Given the description of an element on the screen output the (x, y) to click on. 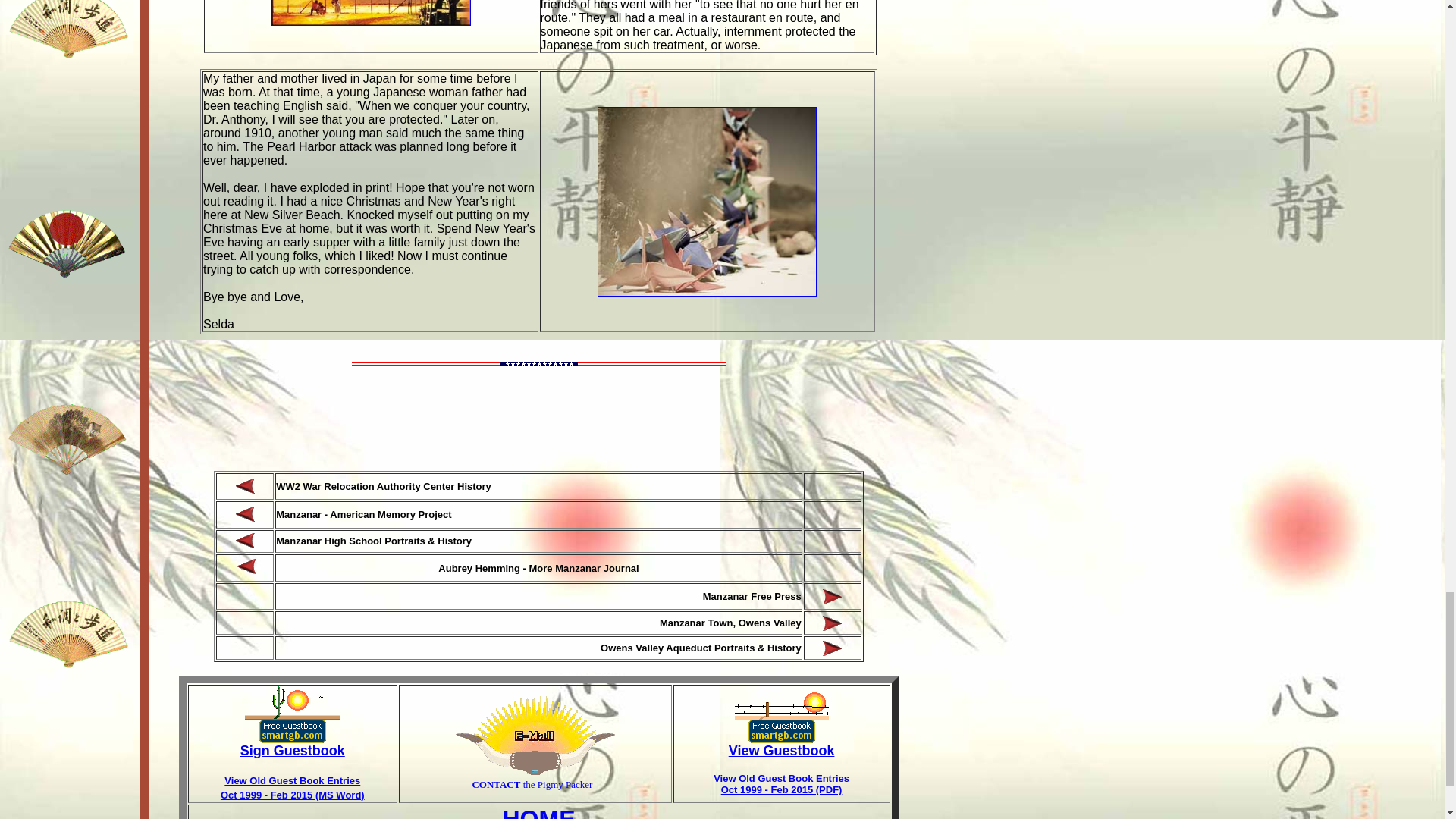
View Guestbook (781, 750)
HOME (538, 812)
Sign Guestbook (292, 750)
CONTACT the Pigmy Packer (531, 784)
